Given the description of an element on the screen output the (x, y) to click on. 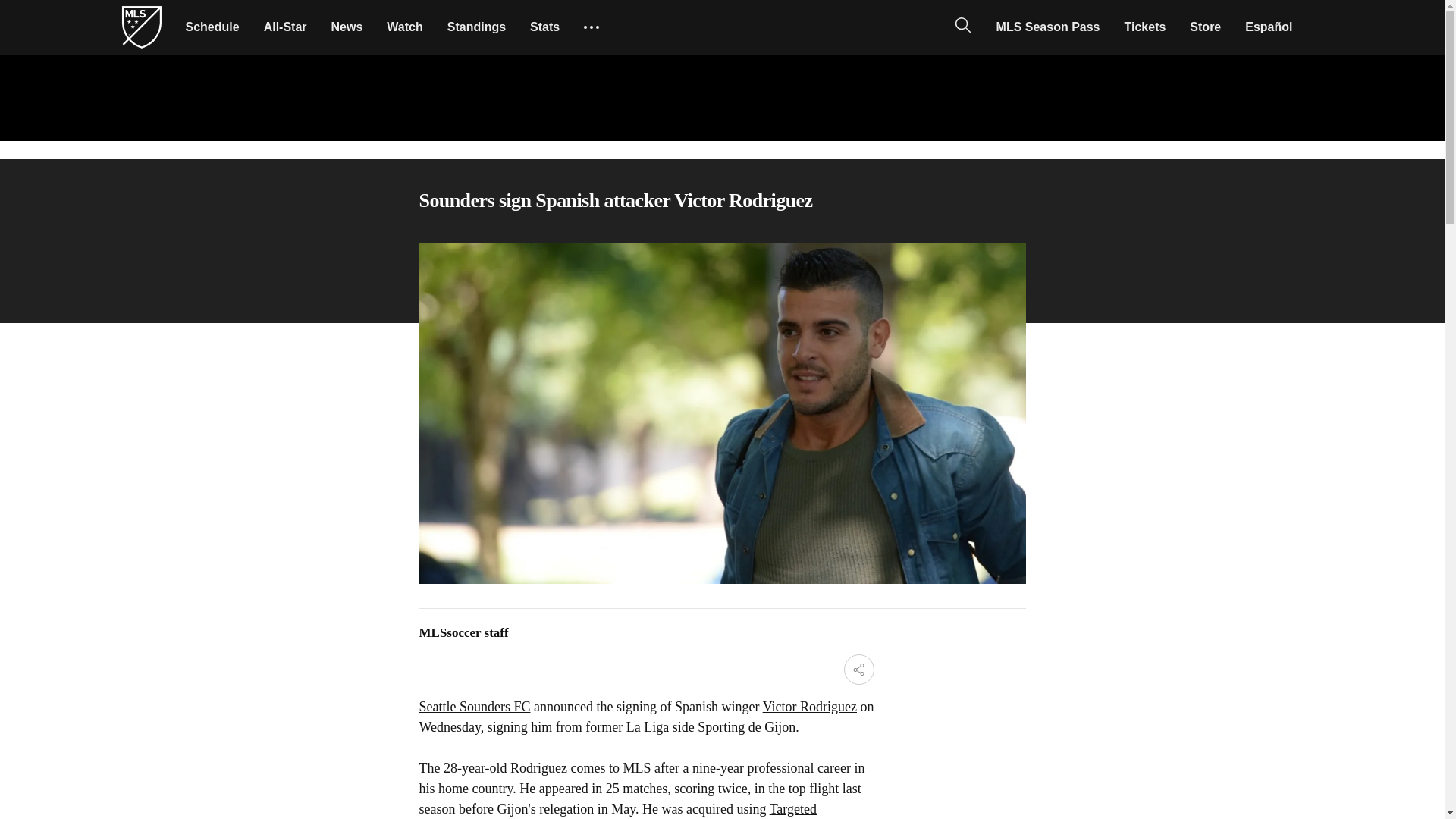
Schedule (211, 26)
MLS Season Pass (1048, 26)
Watch (403, 26)
Major League Soccer (141, 27)
News (346, 26)
Store (1205, 26)
Stats (545, 26)
Standings (476, 26)
All-Star (284, 26)
Tickets (1144, 26)
